Given the description of an element on the screen output the (x, y) to click on. 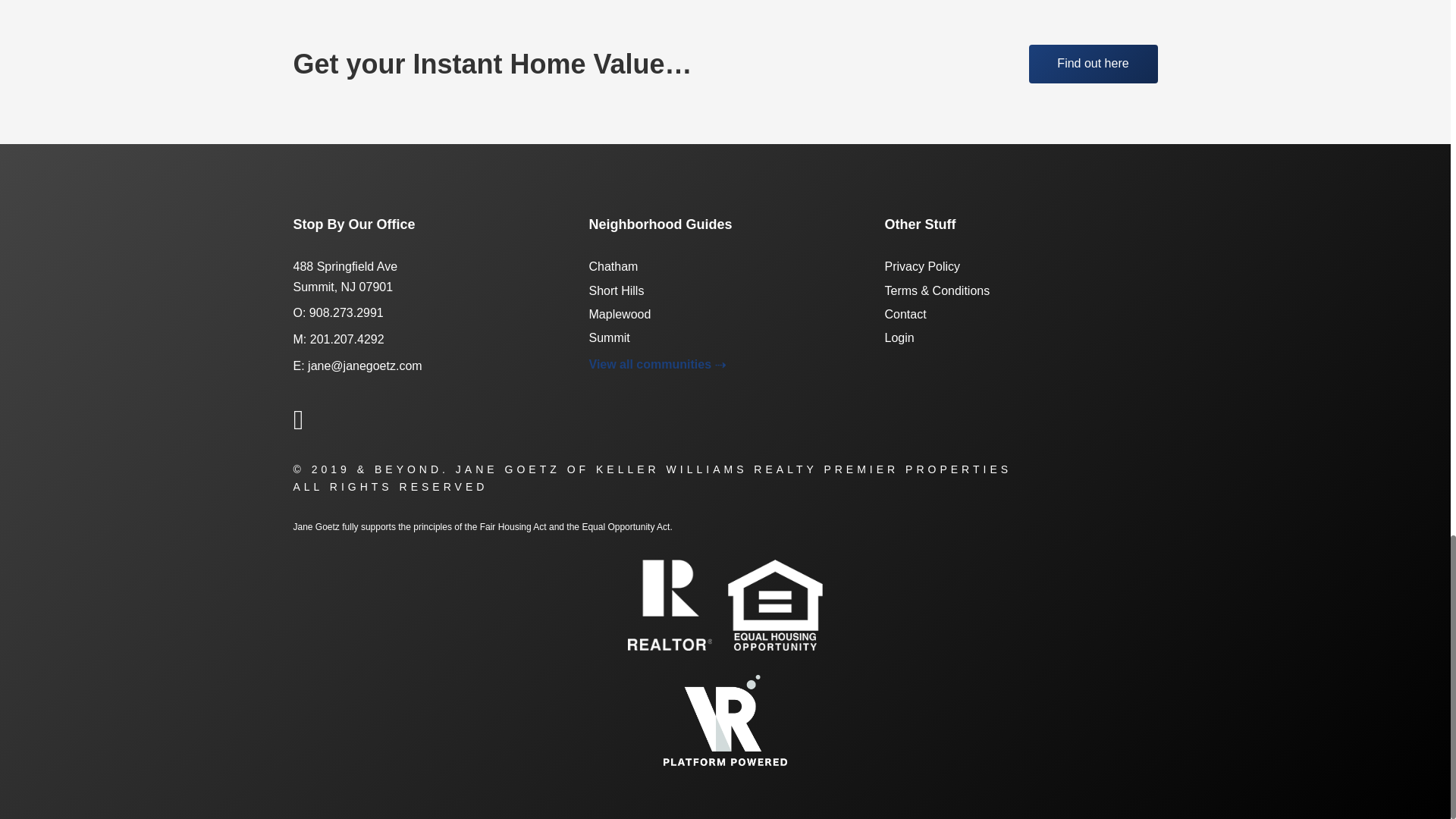
908.273.2991 (346, 312)
Login (898, 337)
Find out here (1092, 64)
Maplewood (619, 314)
Summit (608, 337)
201.207.4292 (347, 338)
Privacy Policy (921, 266)
Chatham (612, 266)
Contact (904, 314)
Short Hills (615, 290)
